Given the description of an element on the screen output the (x, y) to click on. 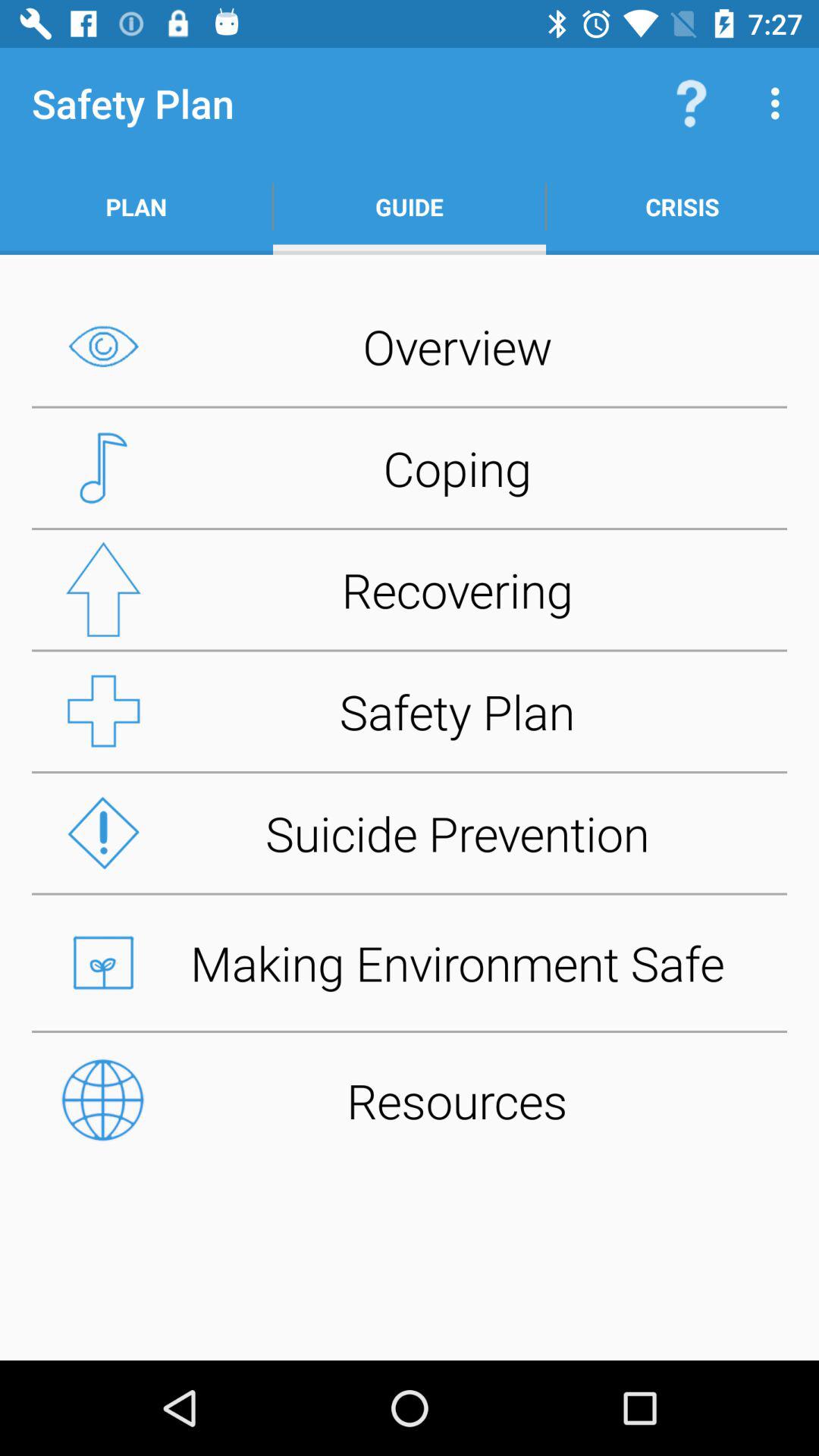
press making environment safe icon (409, 962)
